Given the description of an element on the screen output the (x, y) to click on. 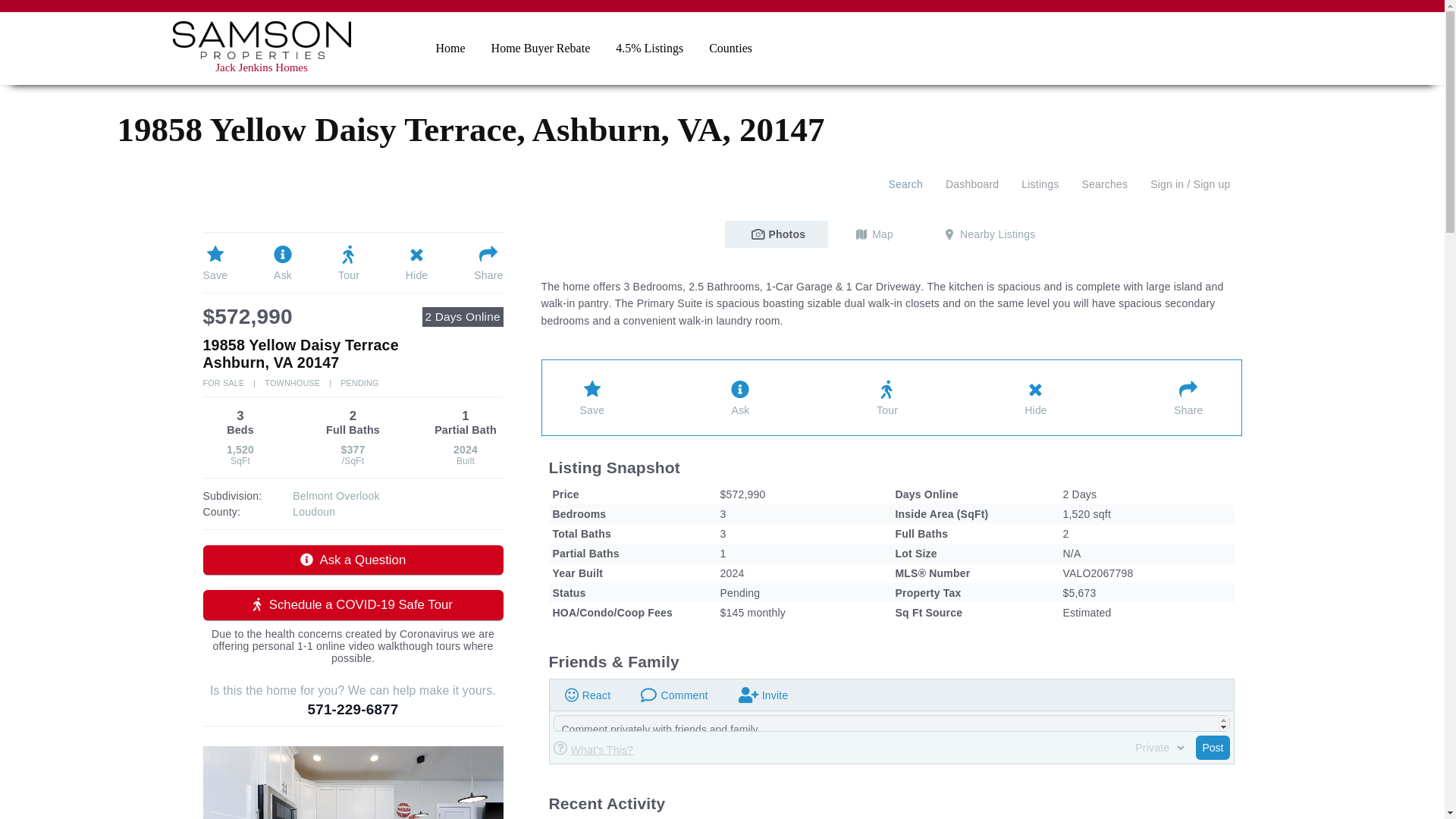
Listings (1040, 184)
Search (905, 184)
Home Buyer Rebate (541, 47)
571-229-6877 (352, 709)
Counties (729, 47)
Searches (1104, 184)
Post (1211, 747)
Dashboard (972, 184)
Ask a Question (353, 559)
Home (451, 47)
